Given the description of an element on the screen output the (x, y) to click on. 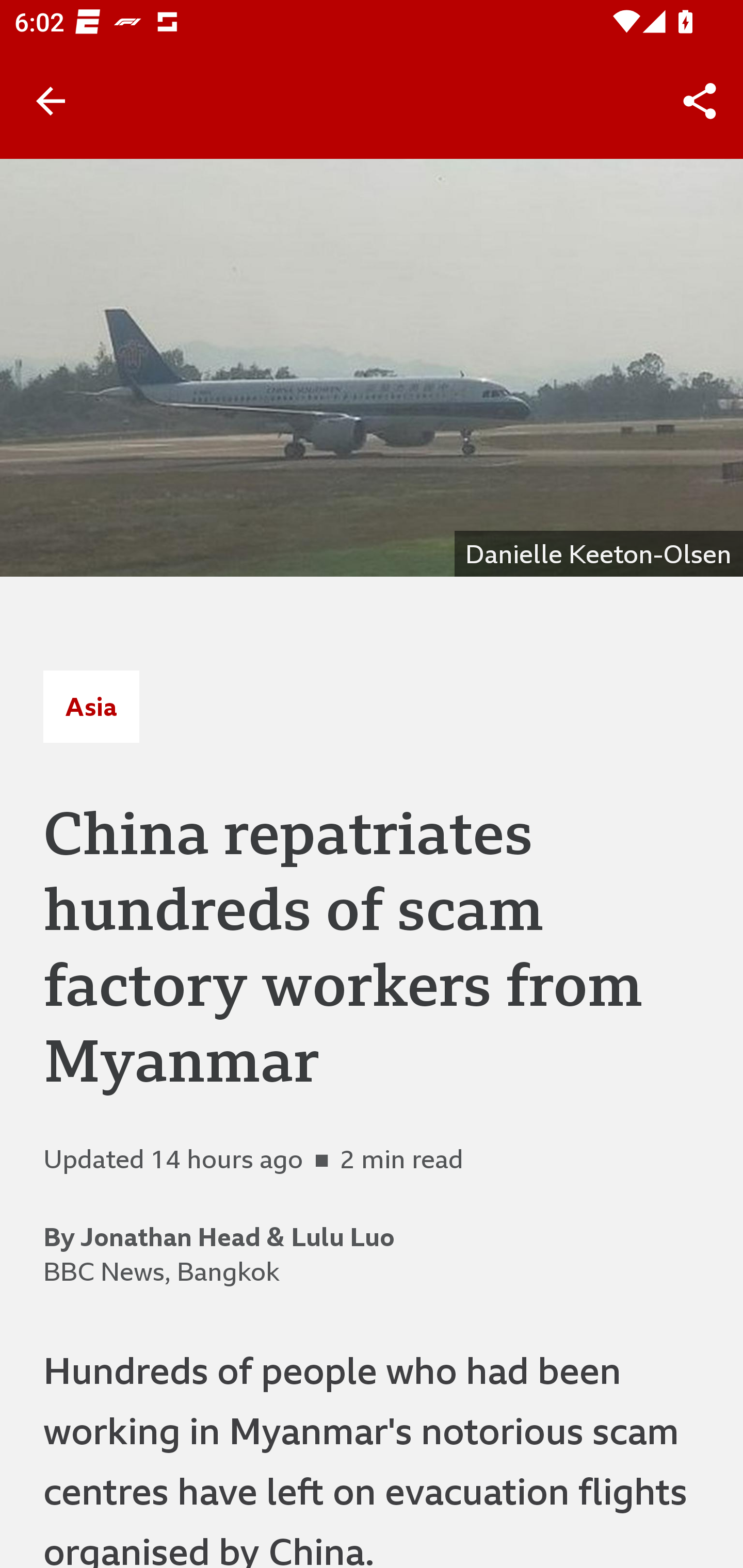
Back (50, 101)
Share (699, 101)
Asia (91, 706)
